Given the description of an element on the screen output the (x, y) to click on. 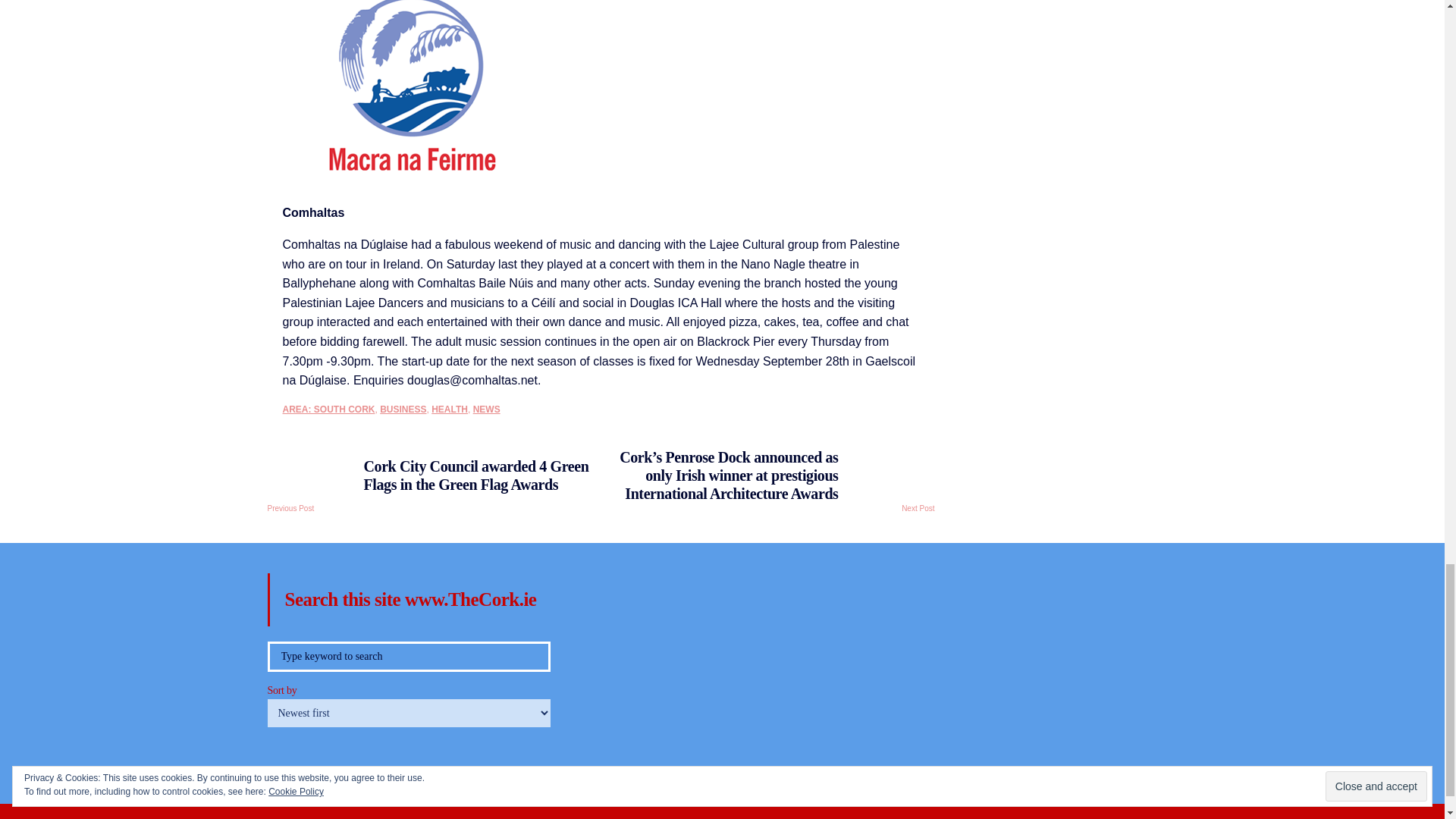
Type keyword to search (408, 656)
Type keyword to search (408, 656)
